Given the description of an element on the screen output the (x, y) to click on. 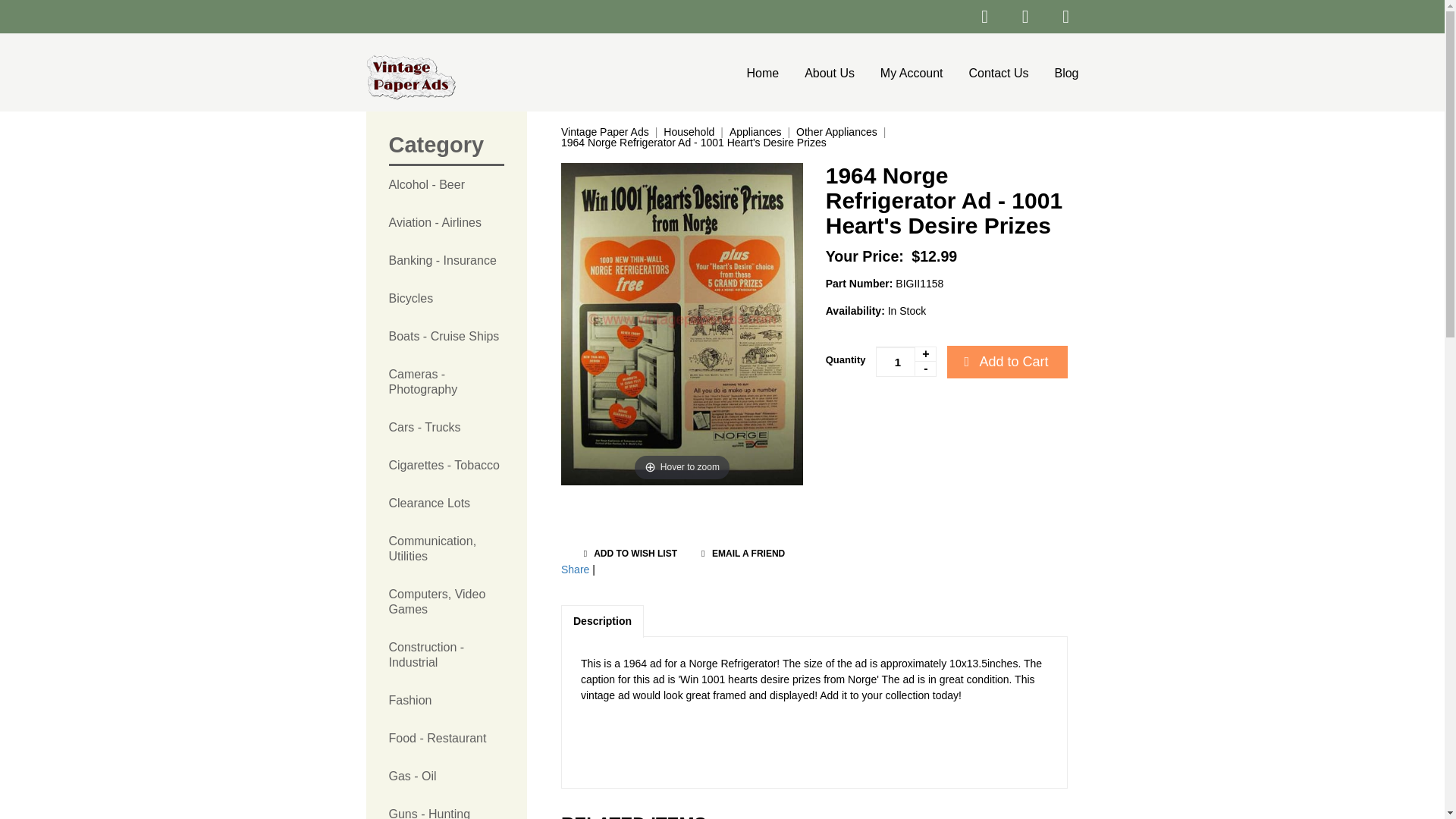
Construction - Industrial (445, 654)
Cameras - Photography (445, 381)
Clearance Lots (445, 503)
Communication, Utilities (445, 548)
1 (906, 361)
Banking - Insurance (445, 260)
Boats - Cruise Ships (445, 336)
Food - Restaurant (445, 738)
Cigarettes - Tobacco (445, 465)
PayPal (919, 417)
Cars - Trucks (445, 427)
Fashion (445, 700)
Guns - Hunting (445, 807)
Contact Us (997, 72)
Blog (1060, 72)
